Given the description of an element on the screen output the (x, y) to click on. 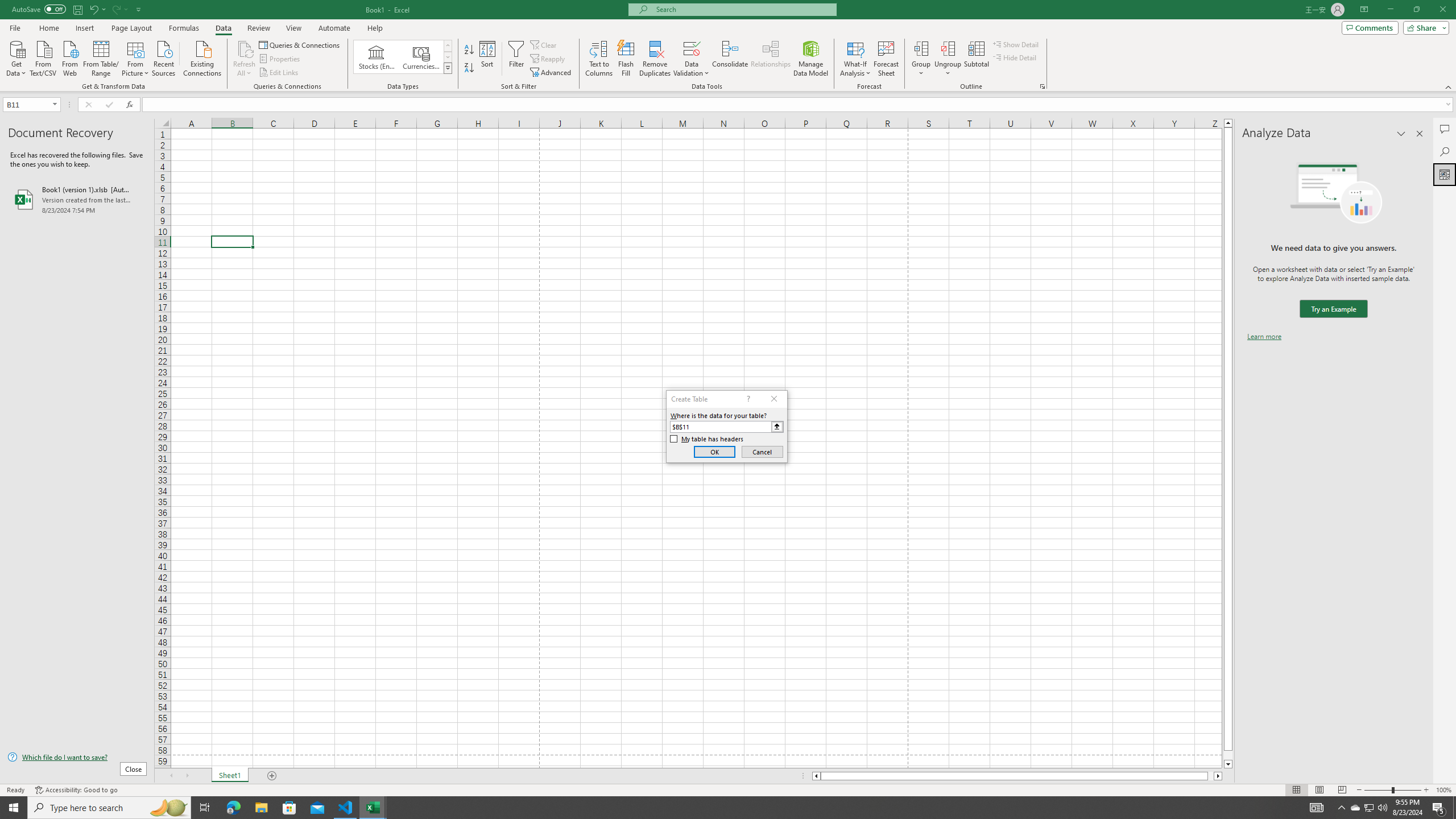
Microsoft search (742, 9)
Remove Duplicates (654, 58)
Show Detail (1016, 44)
Clear (544, 44)
Consolidate... (729, 58)
